Given the description of an element on the screen output the (x, y) to click on. 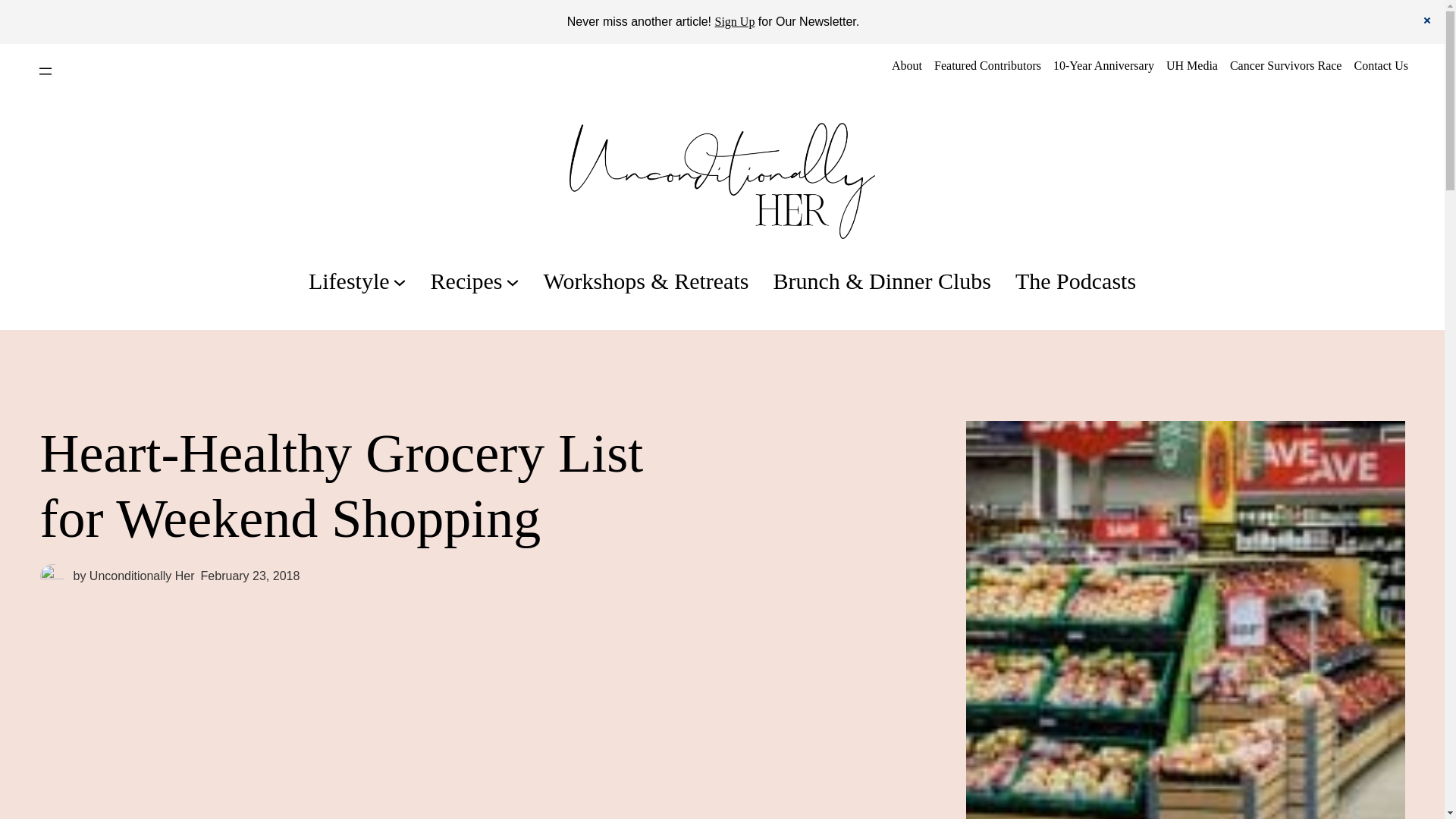
Sign Up (734, 21)
